Given the description of an element on the screen output the (x, y) to click on. 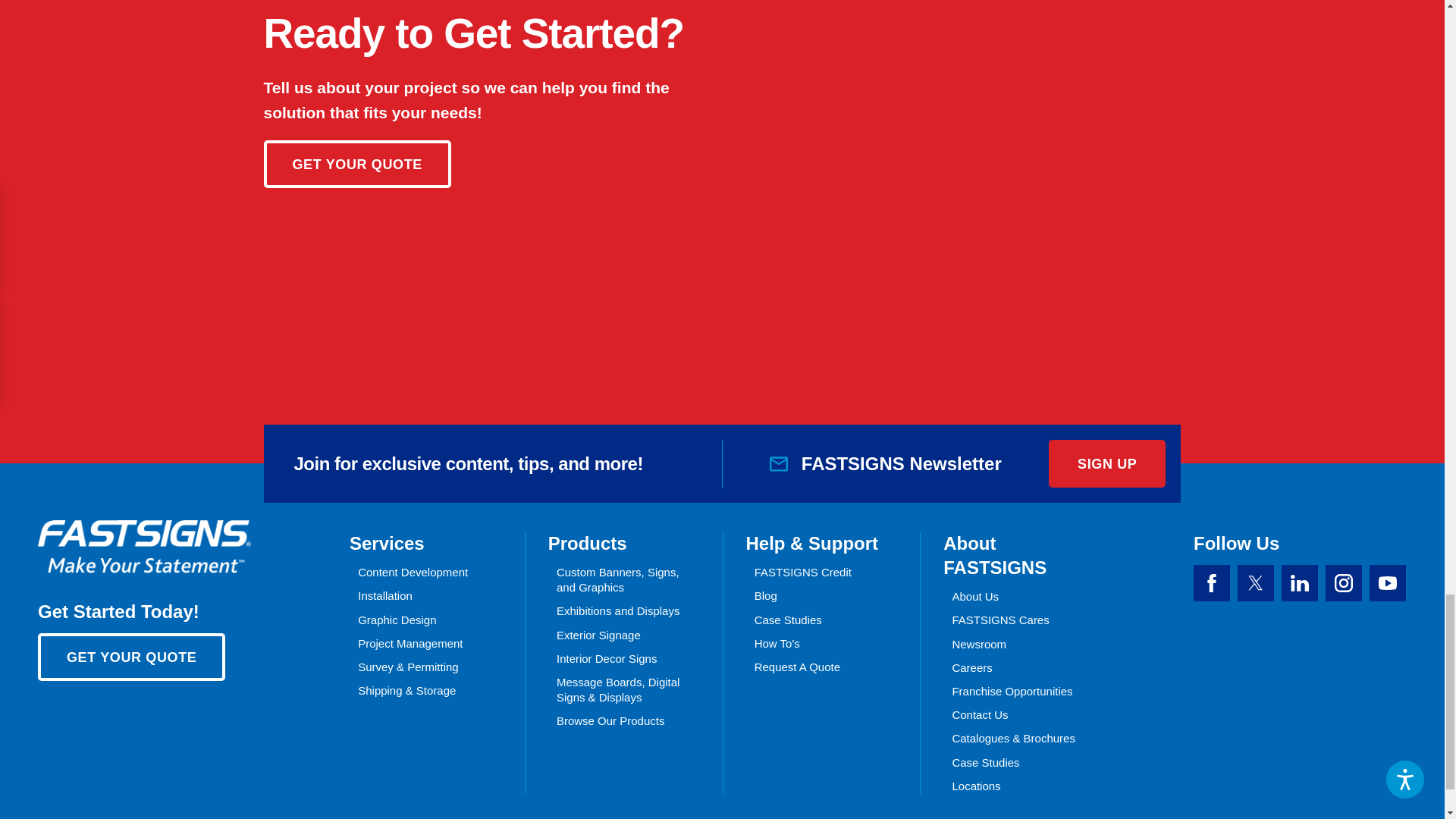
Instagram (1342, 583)
Twitter (1255, 583)
LinkedIn (1299, 583)
Facebook (1211, 583)
YouTube (1388, 583)
